Given the description of an element on the screen output the (x, y) to click on. 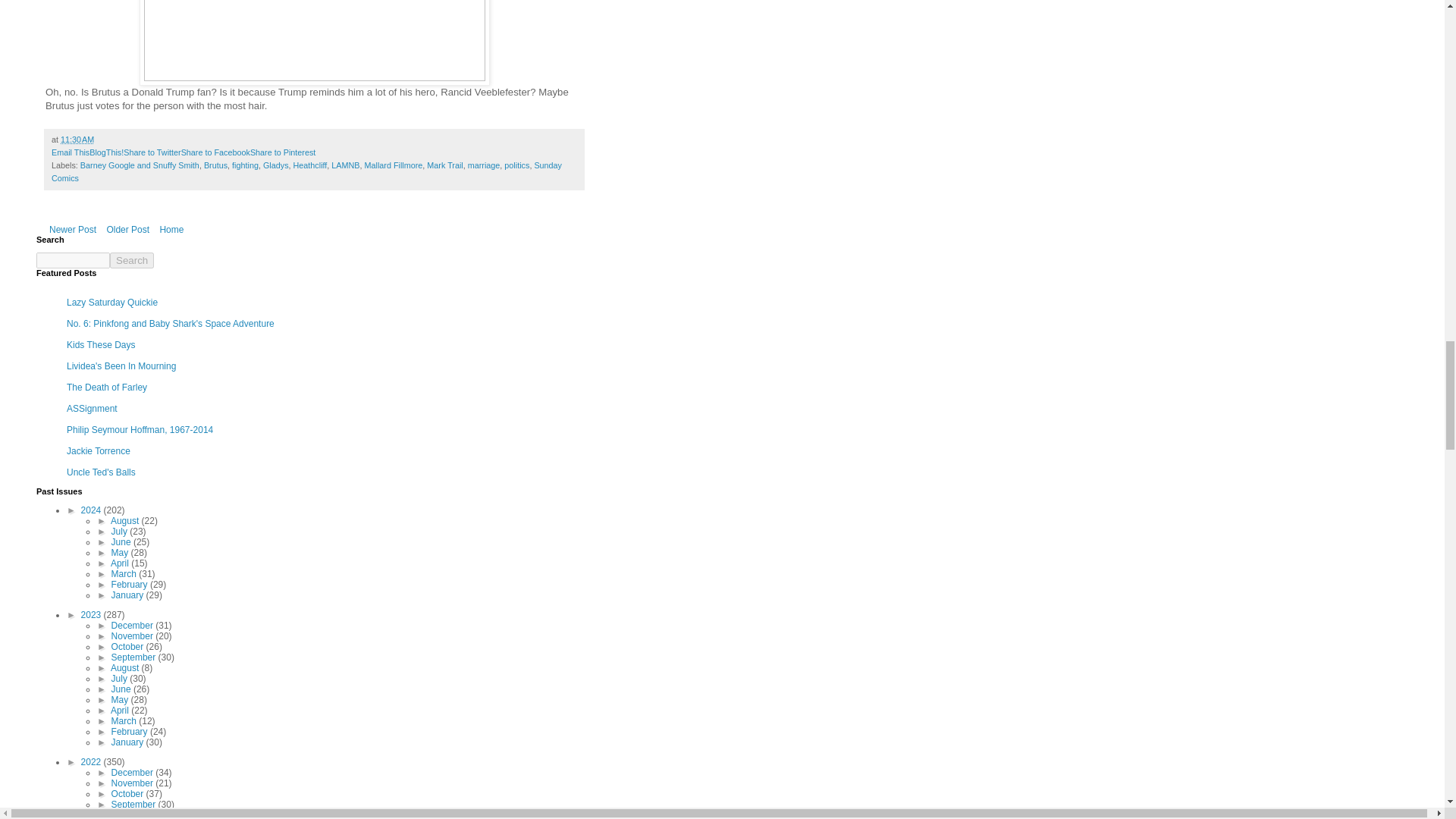
Share to Pinterest (282, 152)
politics (516, 164)
Share to Pinterest (282, 152)
Email Post (103, 139)
Heathcliff (310, 164)
search (132, 260)
Share to Twitter (151, 152)
Mallard Fillmore (394, 164)
Mark Trail (444, 164)
Search (132, 260)
